Given the description of an element on the screen output the (x, y) to click on. 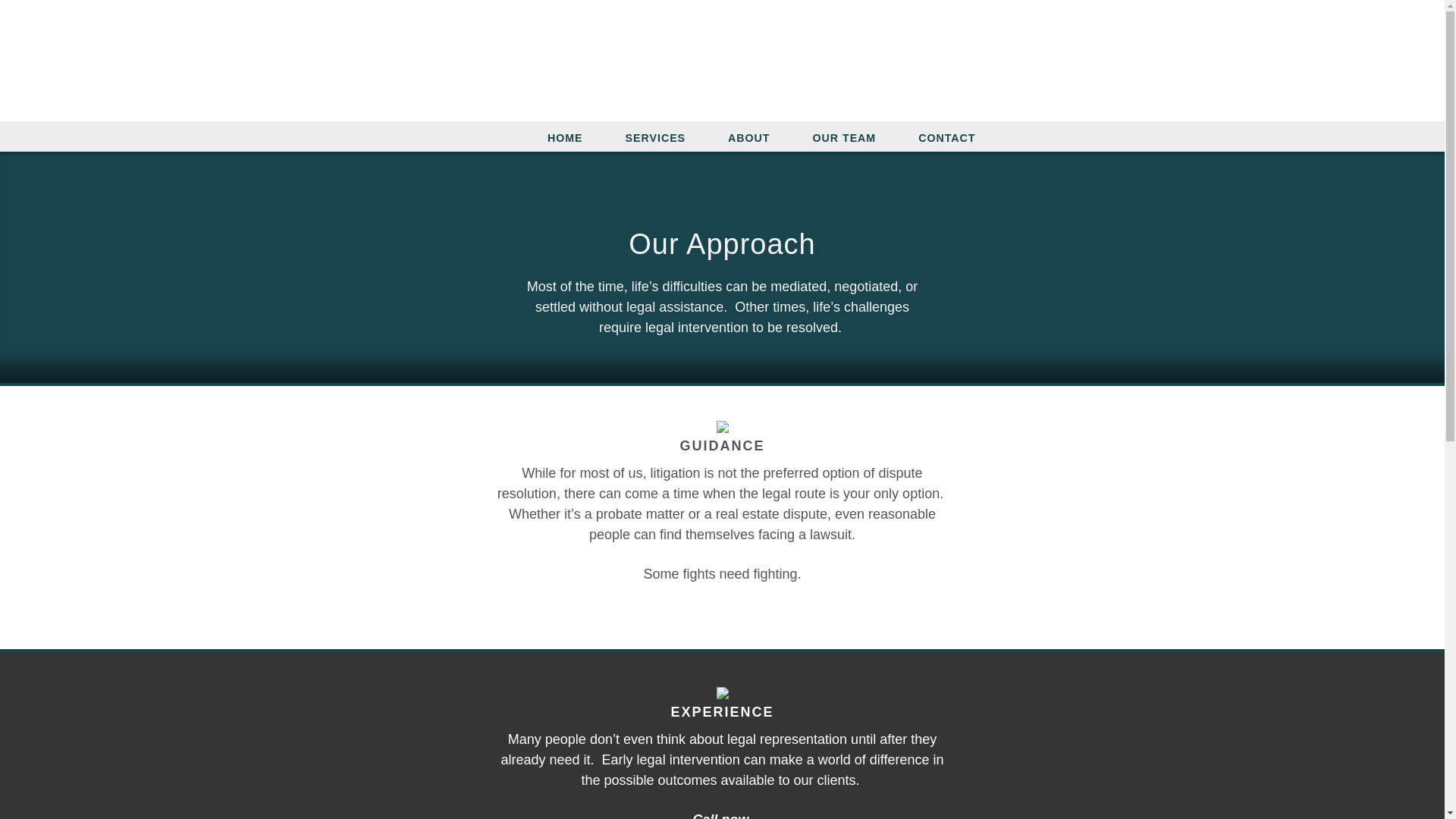
ABOUT (748, 136)
OUR TEAM (845, 136)
CONTACT (945, 136)
HOME (564, 136)
SERVICES (655, 136)
